Given the description of an element on the screen output the (x, y) to click on. 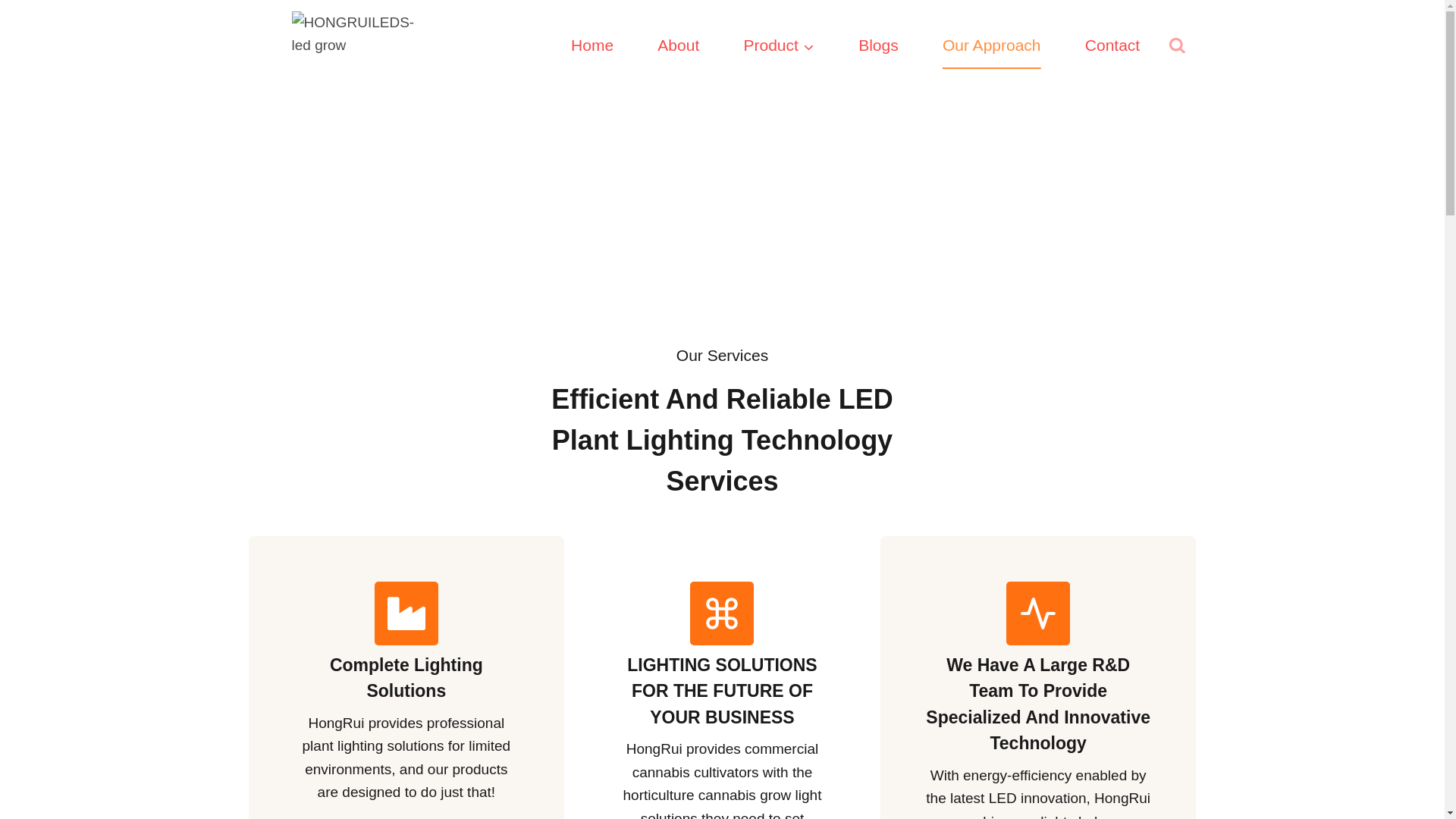
Contact (1112, 45)
Product (778, 45)
Home (592, 45)
About (679, 45)
Our Approach (991, 45)
Blogs (878, 45)
